Given the description of an element on the screen output the (x, y) to click on. 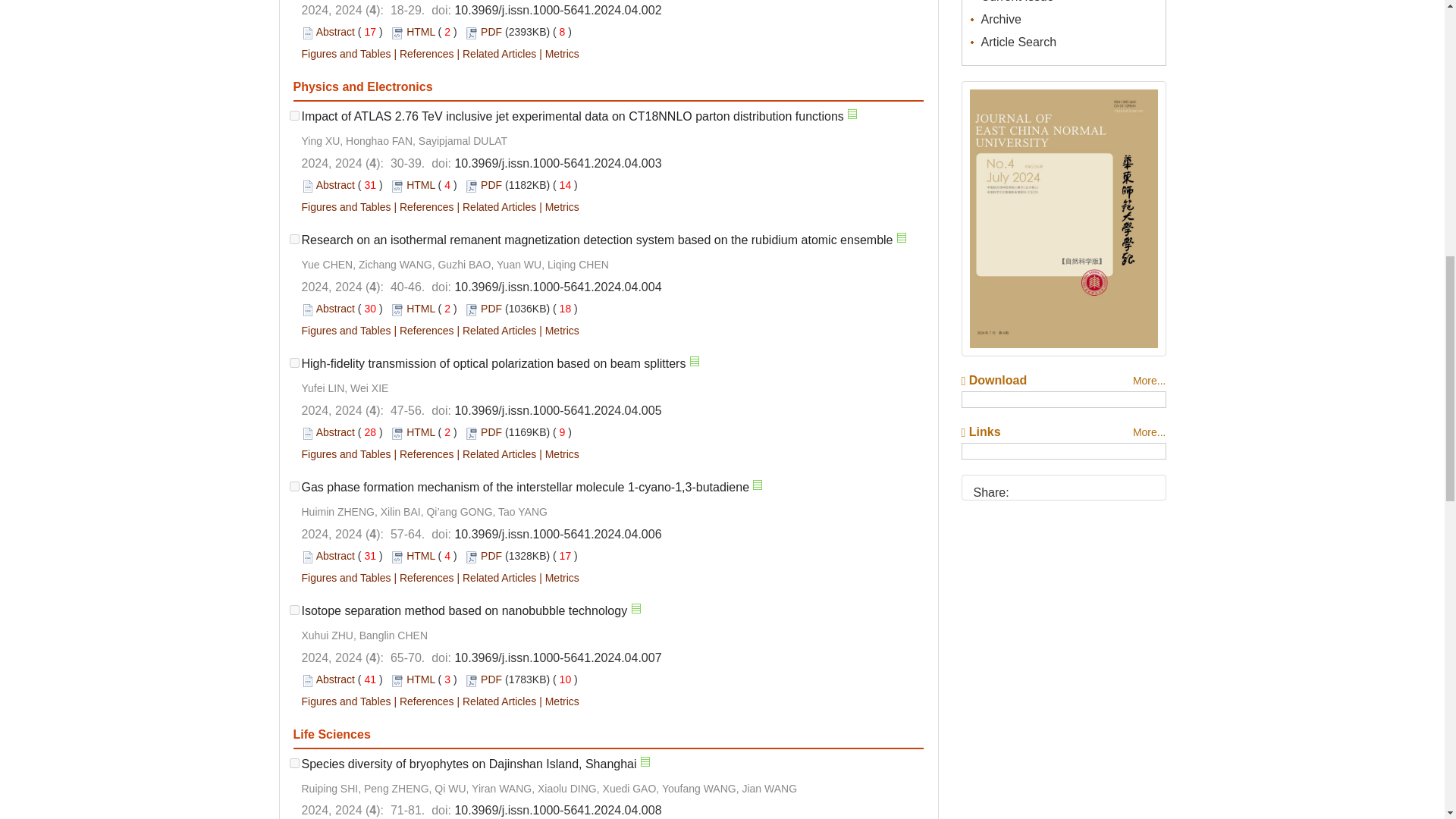
26214 (294, 486)
26215 (294, 610)
26212 (294, 239)
26211 (294, 115)
26216 (294, 763)
26213 (294, 362)
